Given the description of an element on the screen output the (x, y) to click on. 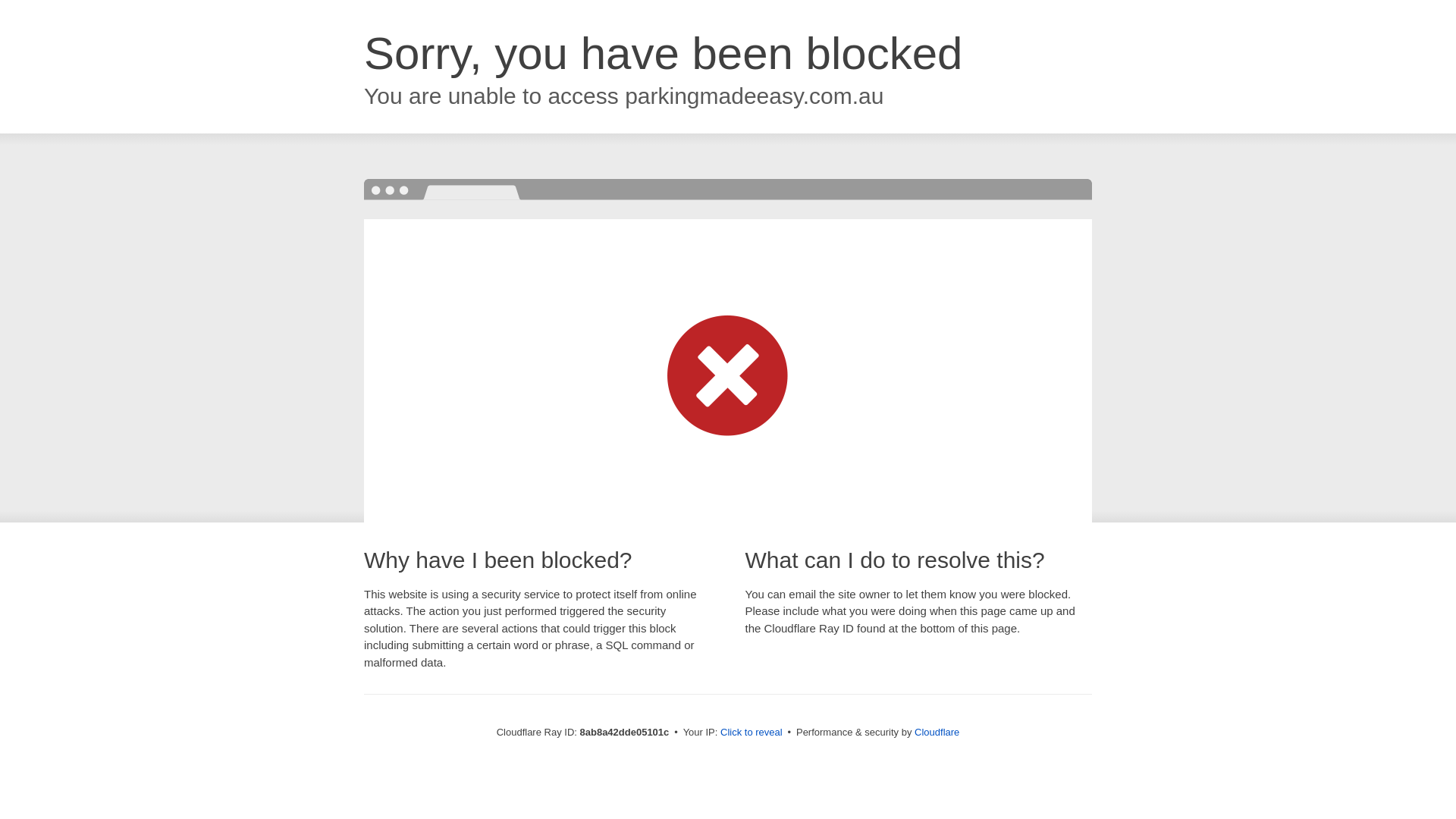
Cloudflare (936, 731)
Click to reveal (751, 732)
